Given the description of an element on the screen output the (x, y) to click on. 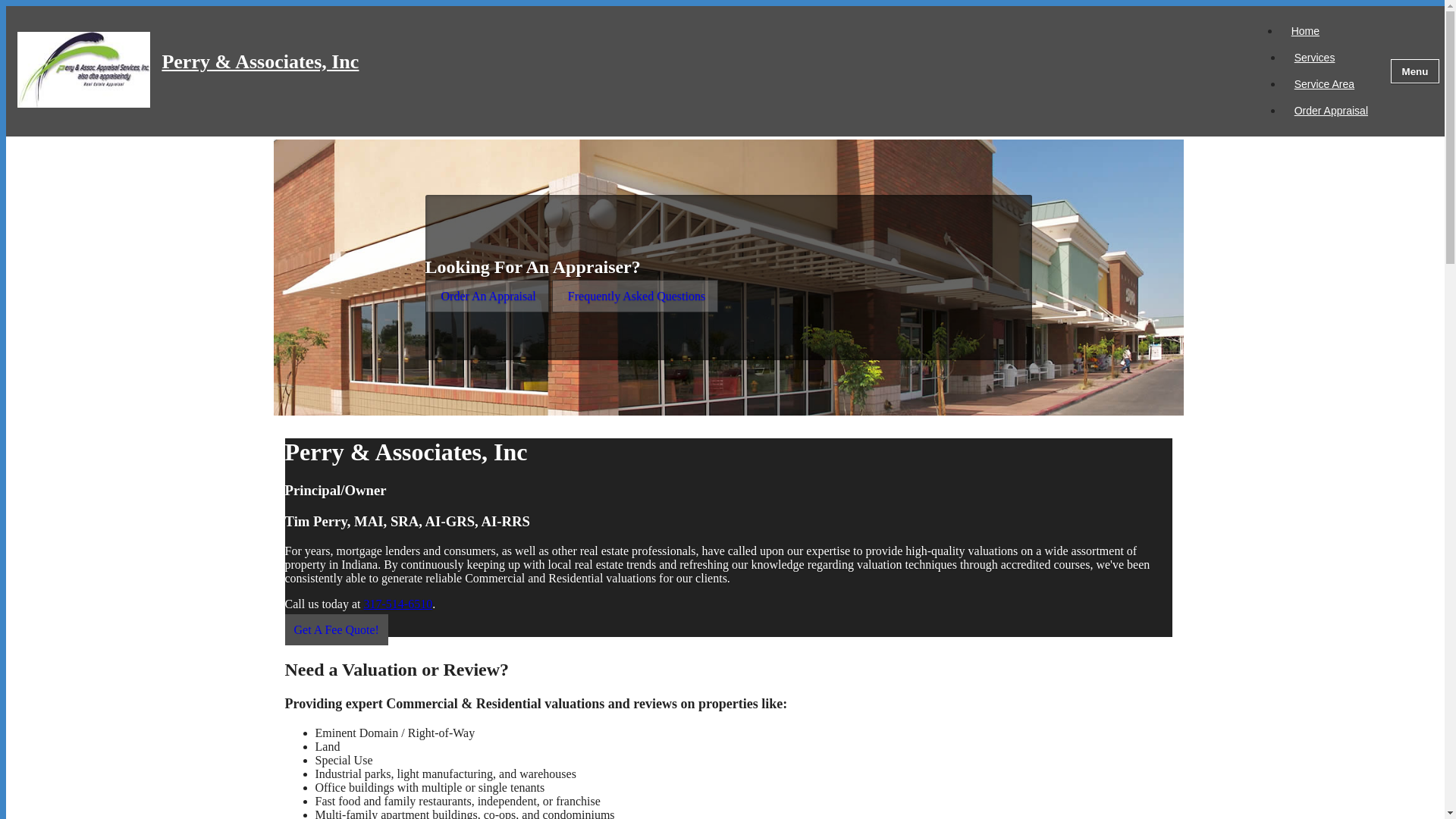
Get A Fee Quote! (336, 629)
Service Area (1323, 84)
Order Appraisal (1330, 110)
Services (1314, 57)
317-514-6510 (397, 603)
  Order An Appraisal  (486, 296)
  Frequently Asked Questions  (634, 296)
Menu (1414, 70)
Home (1304, 31)
